Given the description of an element on the screen output the (x, y) to click on. 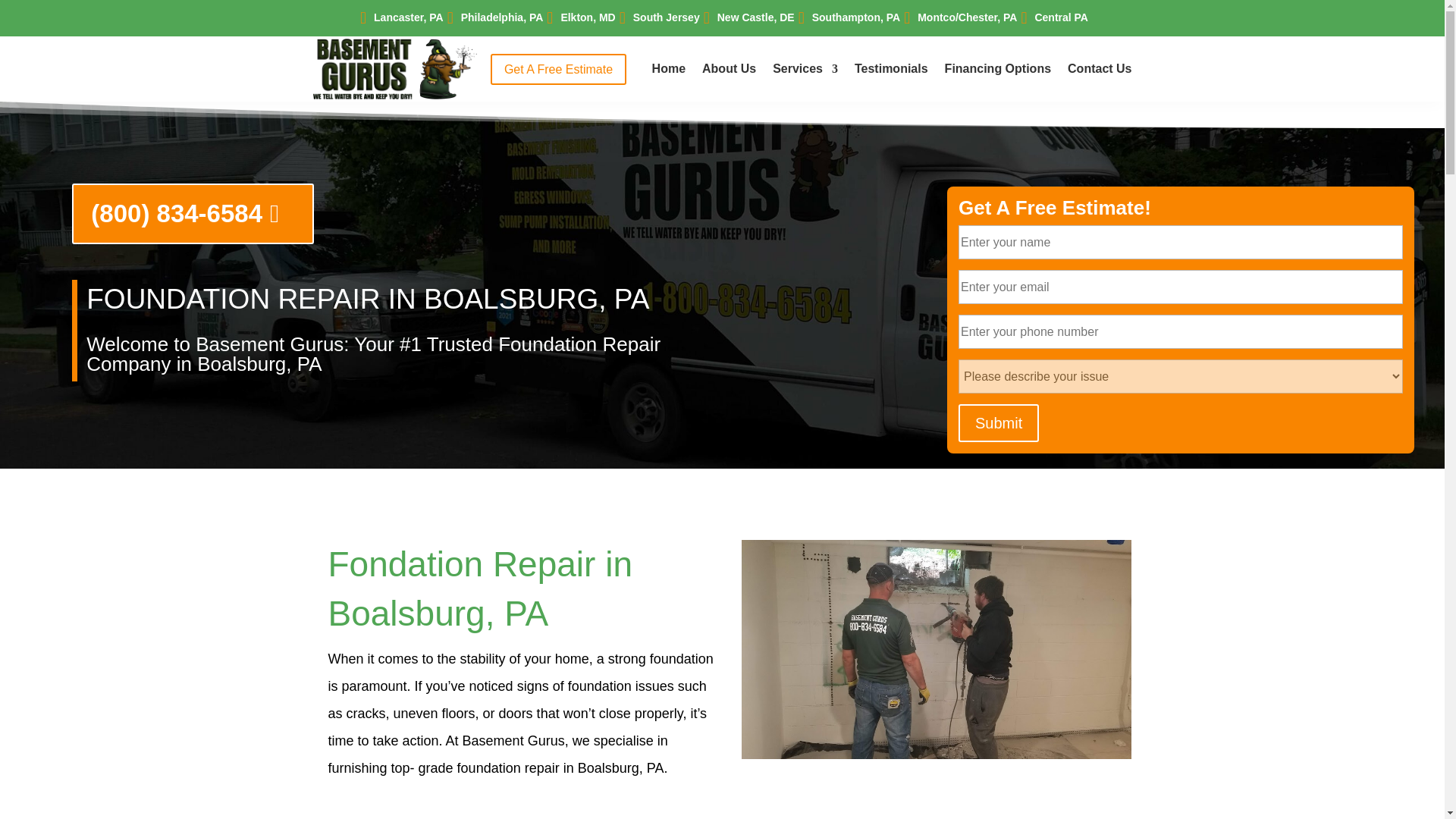
About Us (728, 71)
Testimonials (891, 71)
Get A Free Estimate (558, 69)
Financing Options (997, 71)
Home (668, 71)
Contact Us (1099, 71)
Services (805, 71)
